Given the description of an element on the screen output the (x, y) to click on. 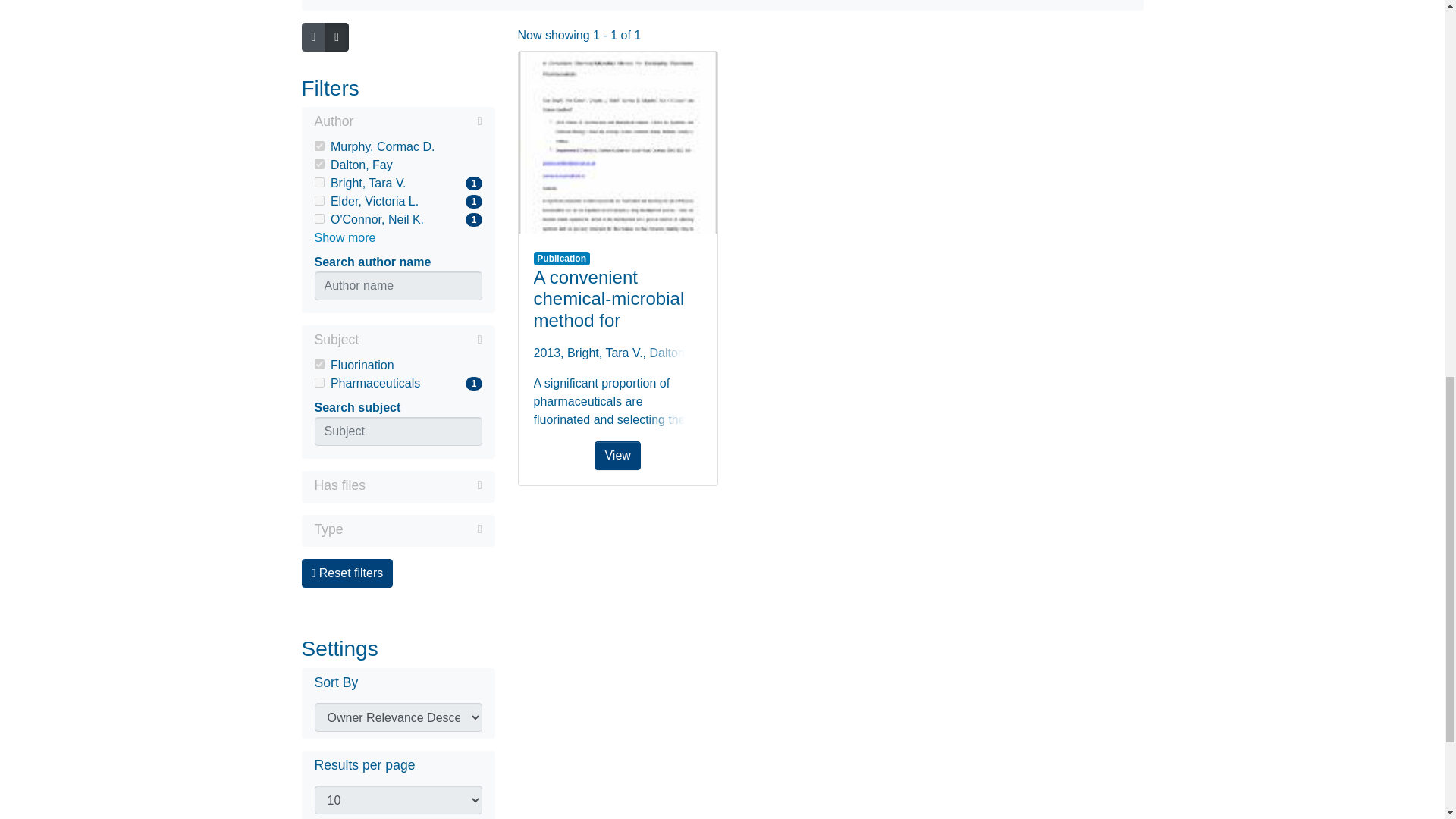
on (318, 218)
View (617, 142)
on (318, 364)
Author (397, 219)
on (397, 122)
Collapse filter (318, 145)
Expand filter (397, 183)
on (397, 201)
Collapse filter (417, 121)
Show more (423, 484)
on (318, 182)
Dalton, Fay (419, 339)
